Given the description of an element on the screen output the (x, y) to click on. 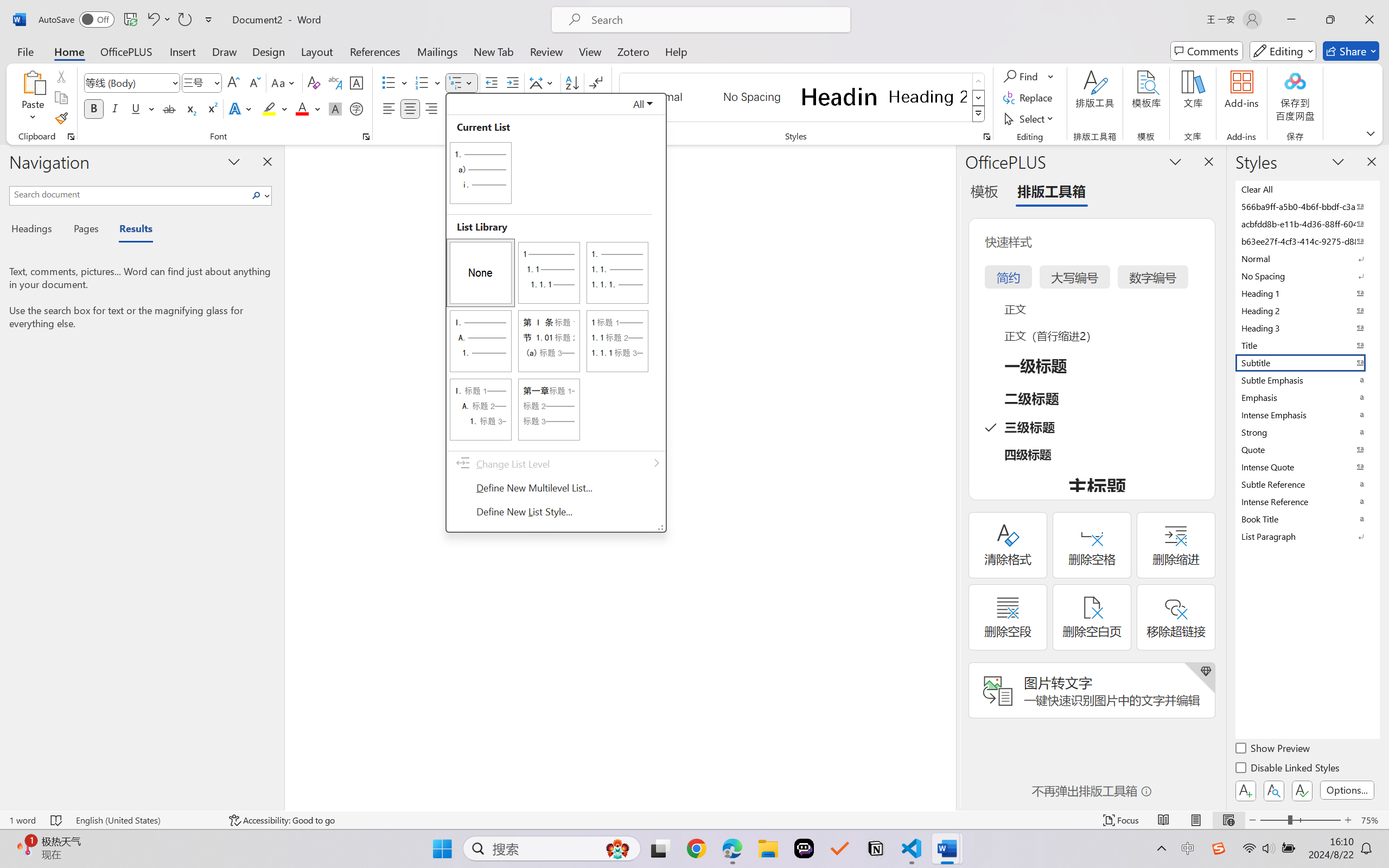
Character Border (356, 82)
Clear Formatting (313, 82)
Pages (85, 229)
Shrink Font (253, 82)
Find (1029, 75)
&Multilevel List (555, 312)
Mailings (437, 51)
Sort... (571, 82)
Heading 3 (1306, 327)
566ba9ff-a5b0-4b6f-bbdf-c3ab41993fc2 (1306, 206)
Grow Font (233, 82)
